Given the description of an element on the screen output the (x, y) to click on. 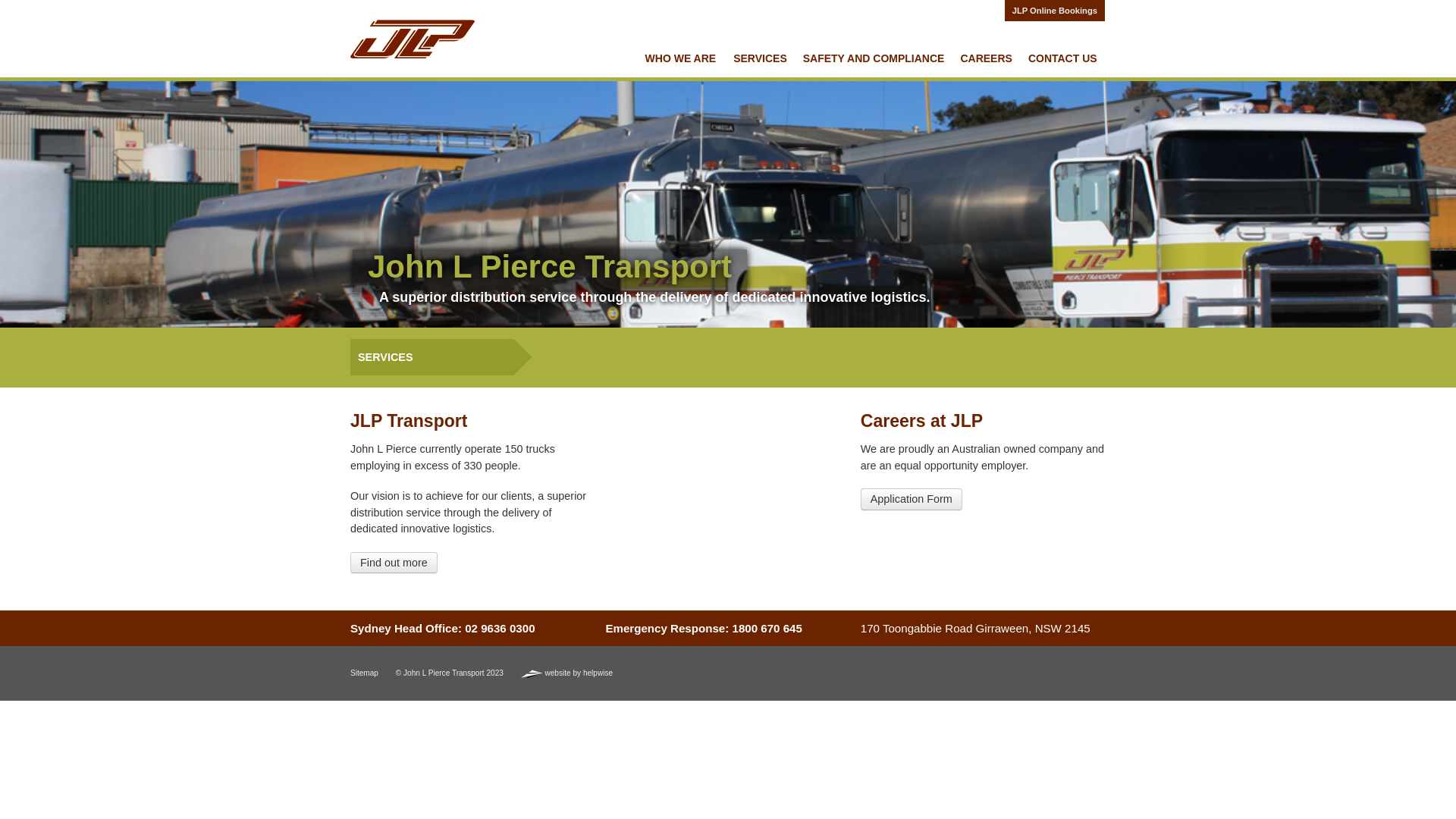
Application Form Element type: text (911, 499)
CAREERS Element type: text (985, 58)
Sitemap Element type: text (364, 672)
JLP Transport Element type: hover (412, 38)
Find out more Element type: text (393, 563)
JLP Online Bookings Element type: text (1054, 10)
SERVICES Element type: text (440, 357)
SERVICES Element type: text (759, 58)
SAFETY AND COMPLIANCE Element type: text (873, 58)
CONTACT US Element type: text (1062, 58)
JLP Transport Element type: hover (412, 37)
website by helpwise Element type: text (566, 672)
